Given the description of an element on the screen output the (x, y) to click on. 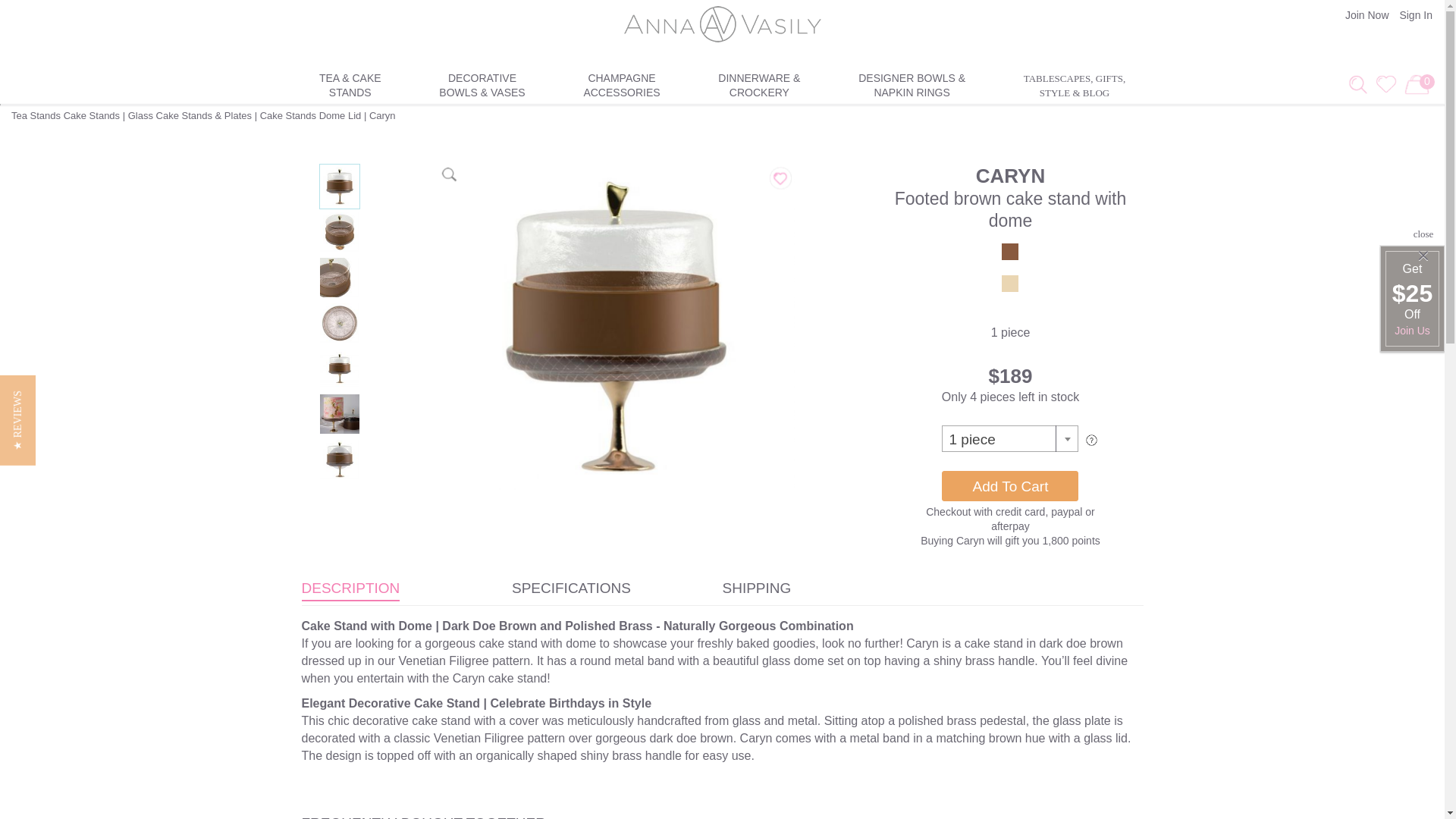
Join (621, 83)
 Sign In (1365, 15)
 Join Now (1414, 15)
Tea Stands and Cake Stands (1365, 15)
Sign In (349, 83)
Champagne Accessories (1414, 15)
